Given the description of an element on the screen output the (x, y) to click on. 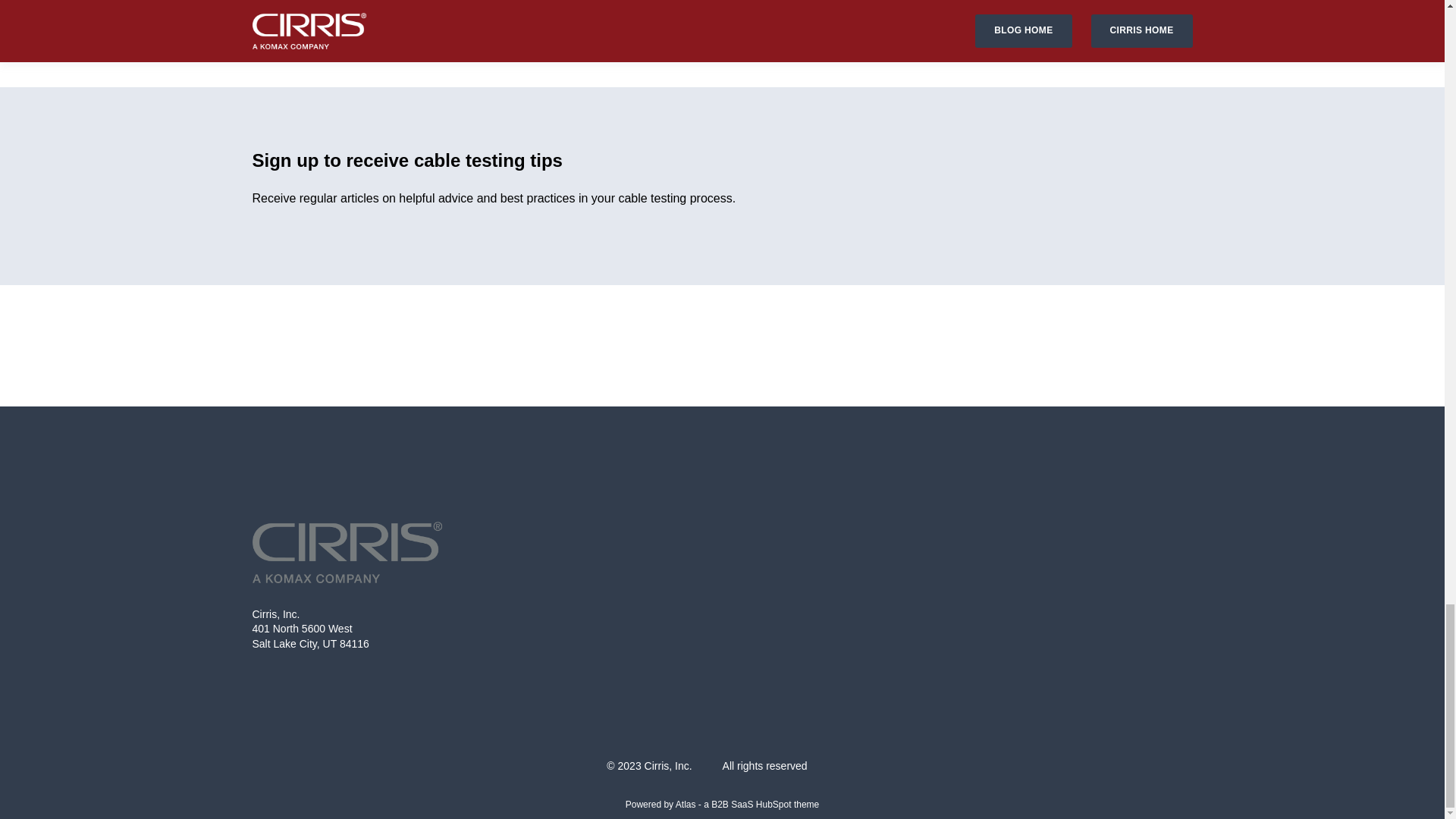
Powered by Atlas - a B2B SaaS HubSpot theme (722, 804)
